Given the description of an element on the screen output the (x, y) to click on. 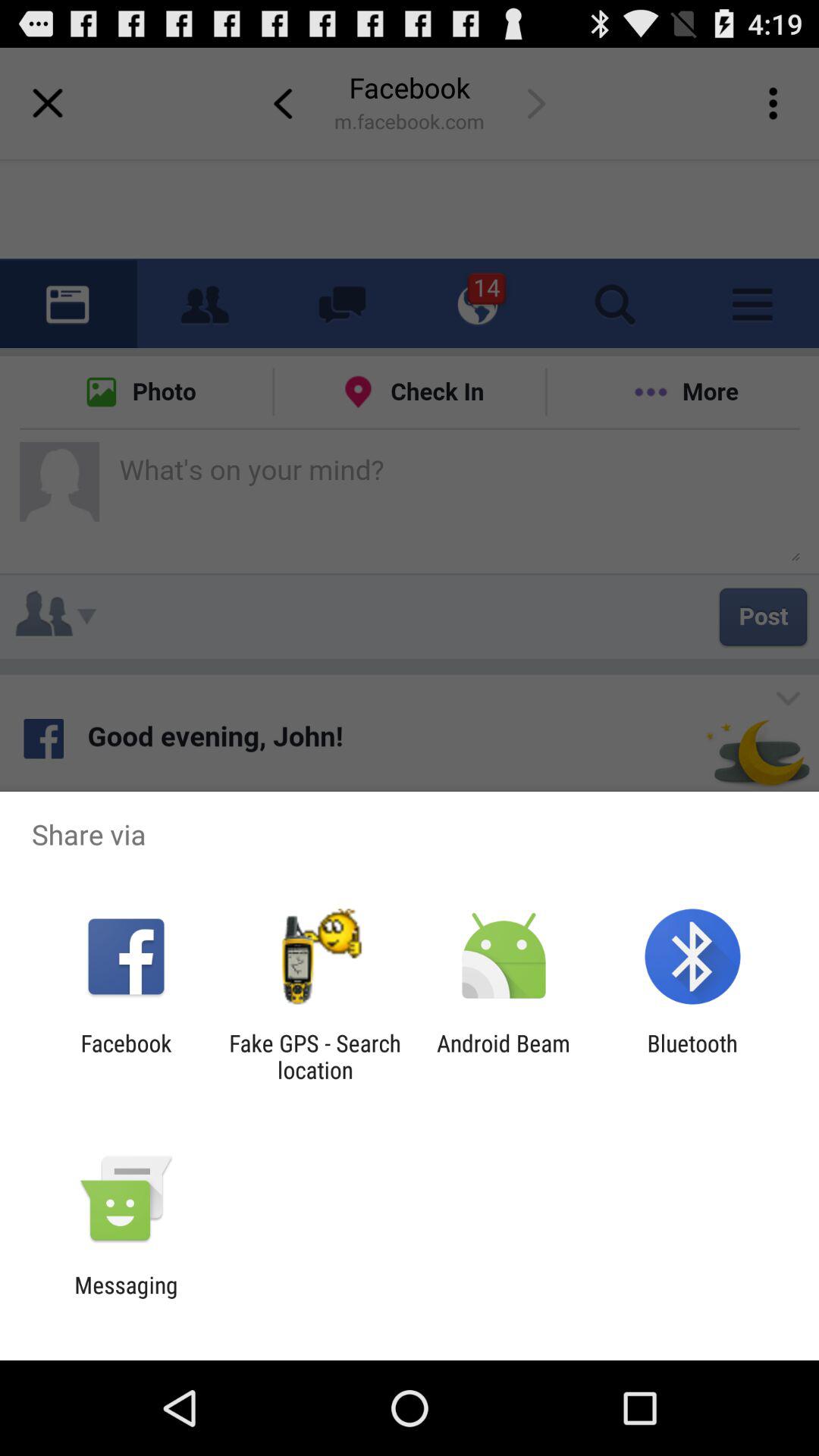
jump to android beam item (503, 1056)
